Given the description of an element on the screen output the (x, y) to click on. 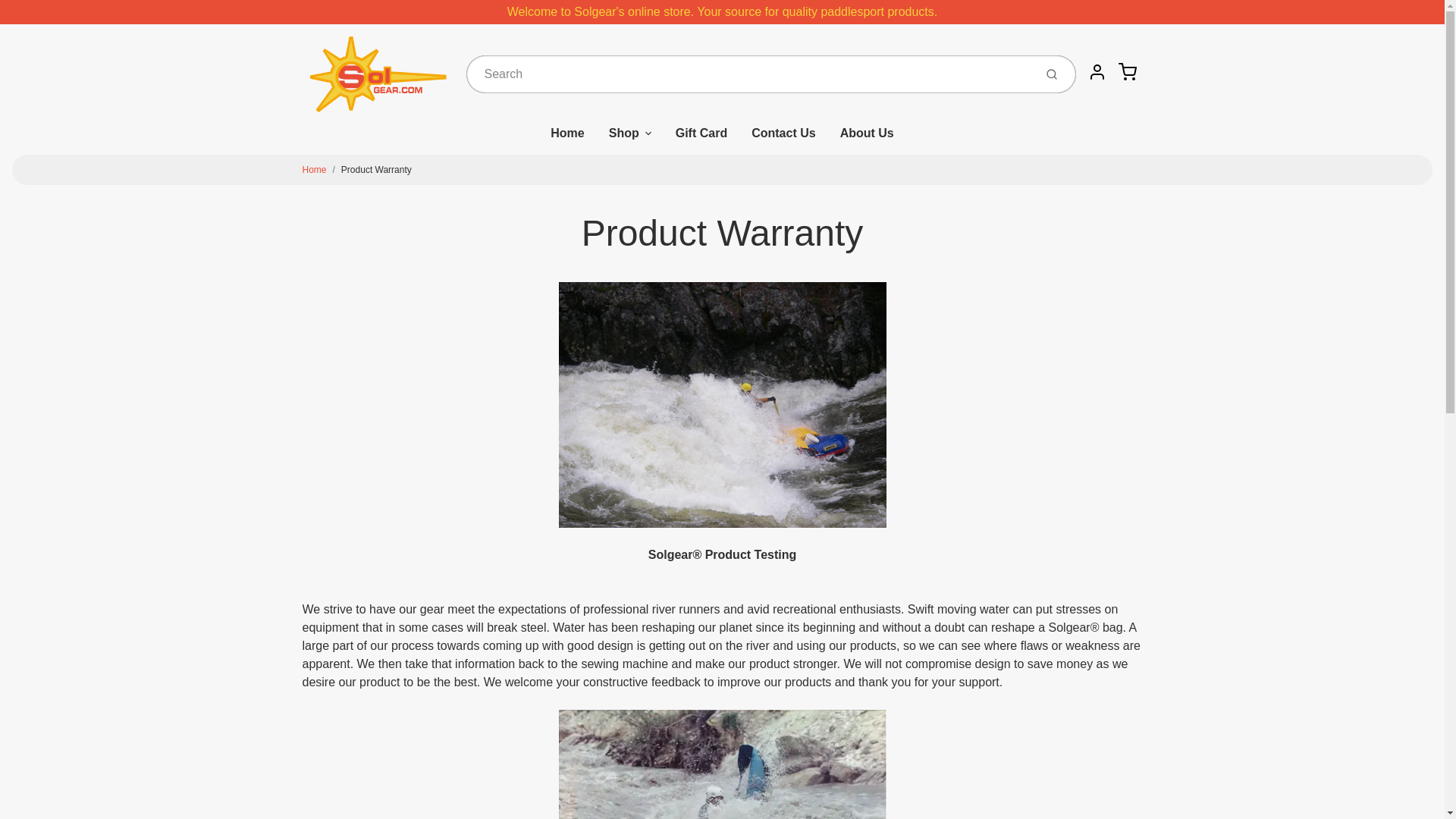
About Us (866, 139)
Contact Us (783, 139)
Gift Card (701, 139)
Home (566, 139)
Cart (1126, 71)
Submit (1052, 74)
Account (1096, 71)
Shop (629, 139)
